Given the description of an element on the screen output the (x, y) to click on. 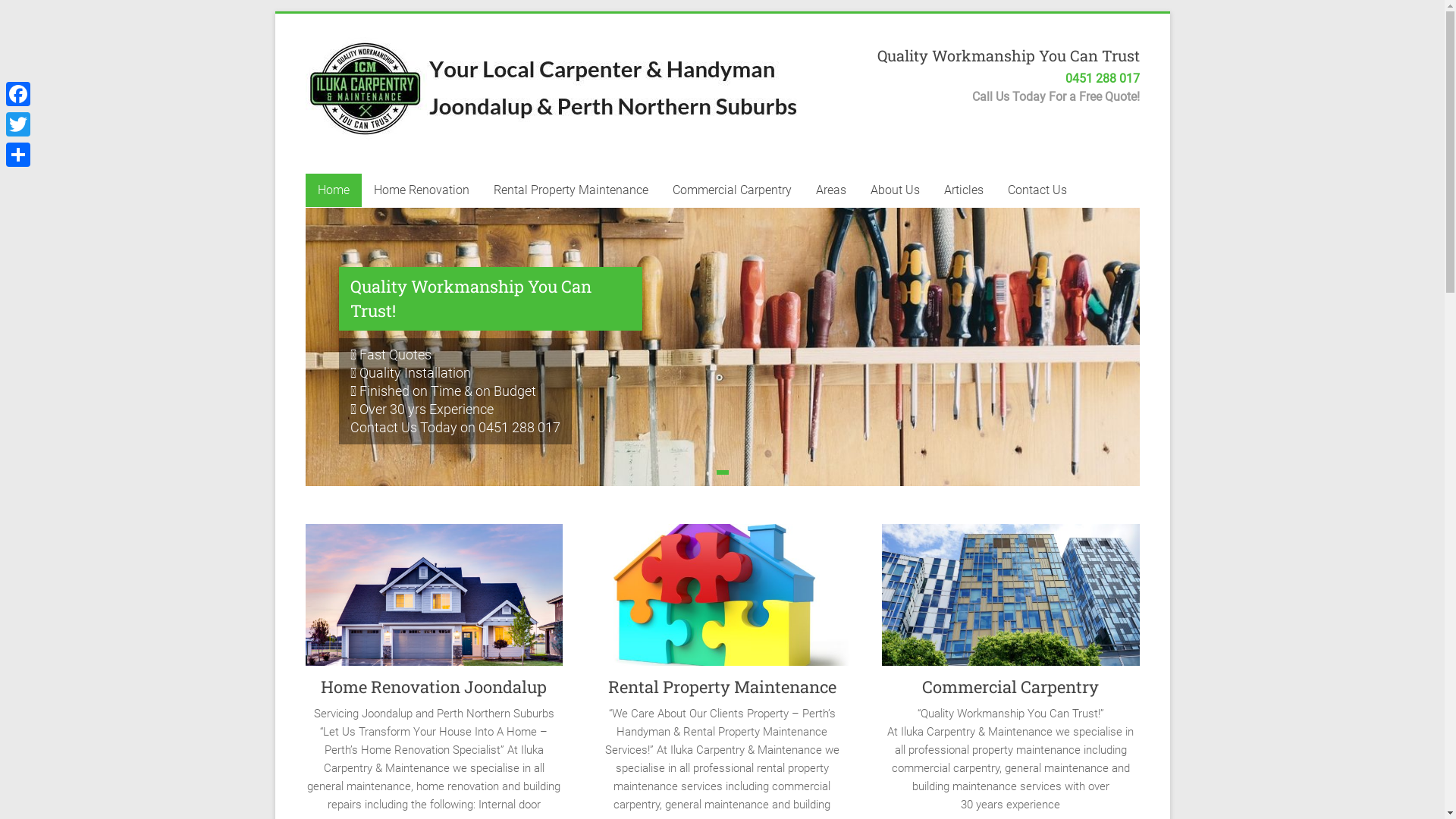
Contact Us Element type: text (1036, 190)
Share Element type: text (18, 154)
Commercial Carpentry Element type: hover (1010, 600)
Commercial Carpentry Element type: text (1010, 686)
Articles Element type: text (962, 190)
Commercial Carpentry Element type: text (731, 190)
Areas Element type: text (830, 190)
Rental Property Maintenance Element type: text (722, 686)
Home Element type: text (332, 190)
Twitter Element type: text (18, 124)
Home Renovation Joondalup Element type: hover (433, 600)
0451 288 017 Element type: text (1101, 78)
Home Renovation Element type: text (420, 190)
Skip to content Element type: text (274, 12)
Rental Property Maintenance Element type: hover (721, 600)
Home Renovation Joondalup Element type: text (433, 686)
Rental Property Maintenance Element type: text (569, 190)
About Us Element type: text (894, 190)
Quality Workmanship You Can Trust! Element type: text (489, 298)
Facebook Element type: text (18, 93)
